Given the description of an element on the screen output the (x, y) to click on. 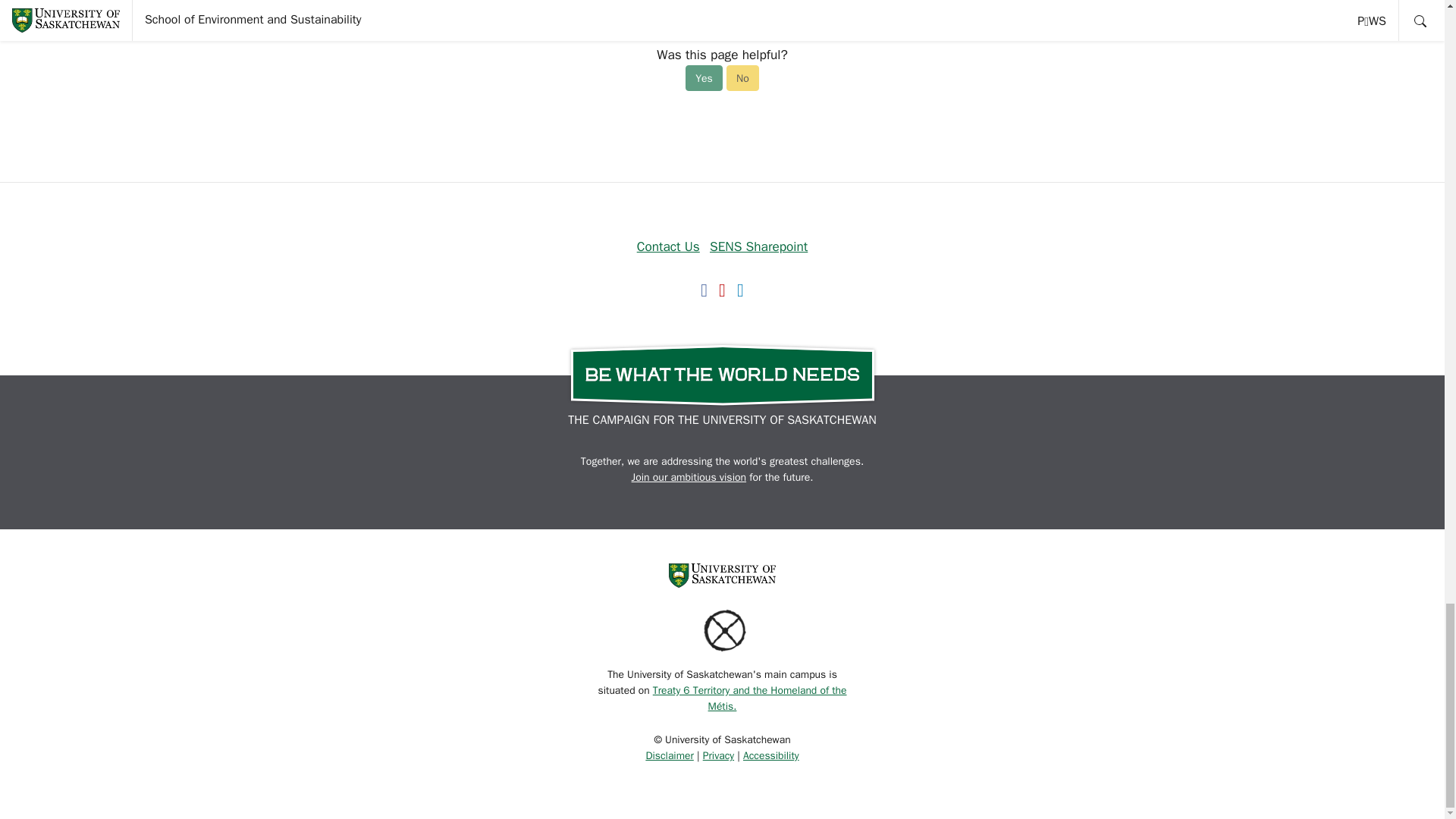
Follow on YouTube (722, 288)
Follow on LinkedIn (740, 288)
Follow on Facebook (703, 288)
